Given the description of an element on the screen output the (x, y) to click on. 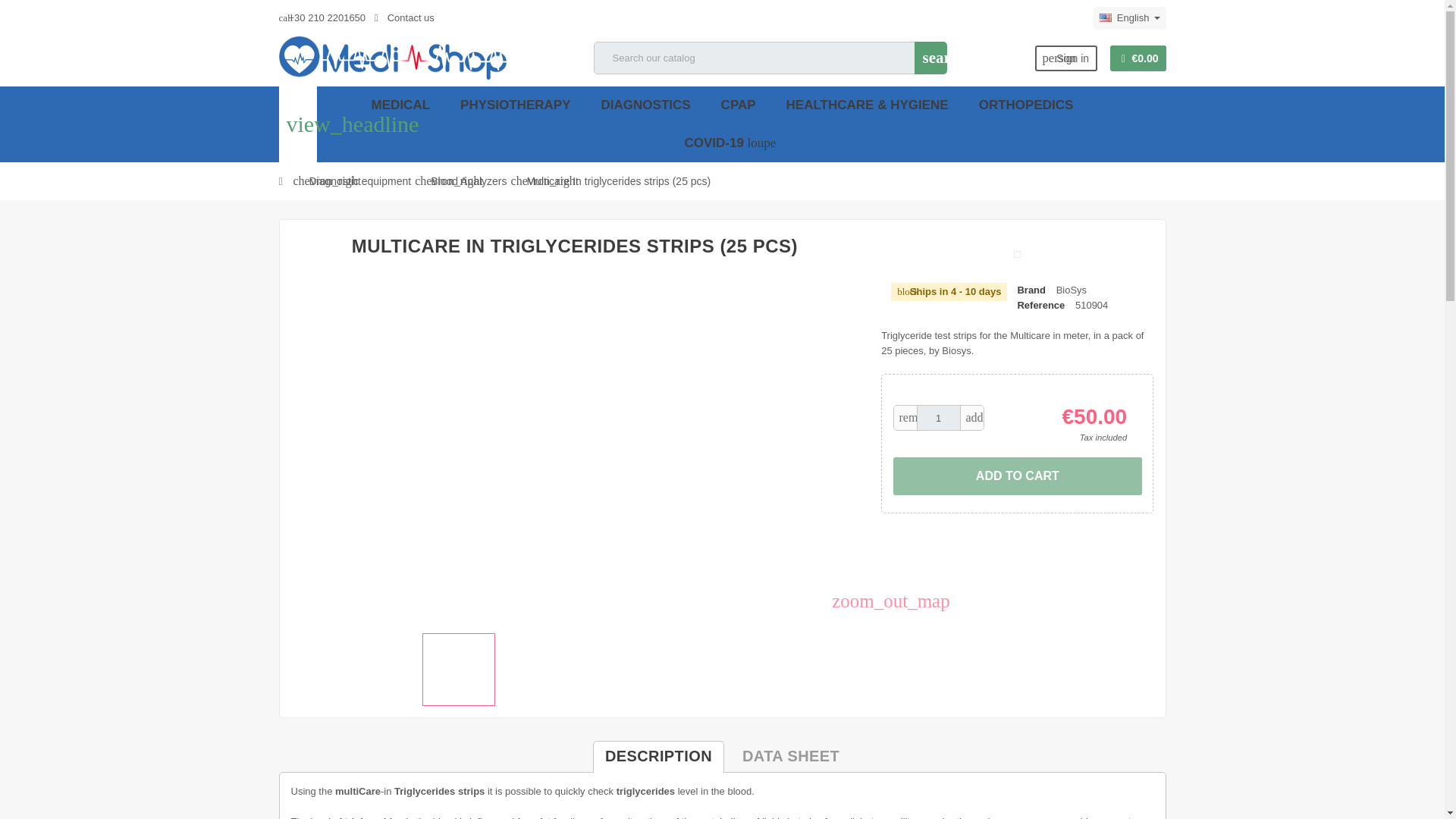
search (930, 57)
add (972, 417)
remove (905, 417)
BioSys (1071, 289)
CPAP (738, 105)
Blood Analyzers (468, 180)
ORTHOPEDICS (1026, 105)
Medi-Shop (392, 57)
  English (1129, 17)
Log in to your customer account (1066, 57)
